Given the description of an element on the screen output the (x, y) to click on. 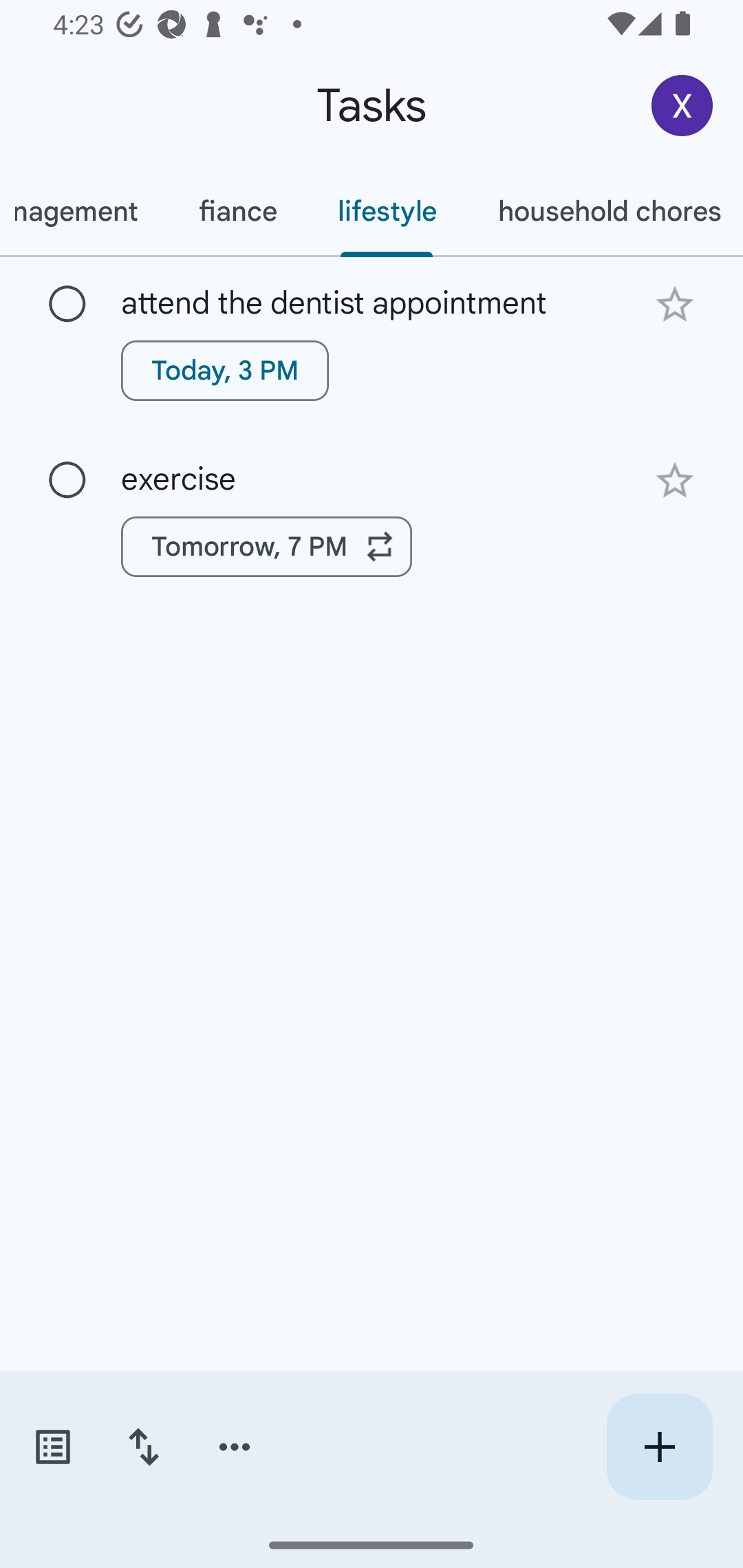
home management (83, 211)
fiance (236, 211)
household chores (605, 211)
Add star (674, 303)
Mark as complete (67, 304)
Today, 3 PM (225, 369)
Add star (674, 480)
Mark as complete (67, 480)
Tomorrow, 7 PM (266, 546)
Switch task lists (52, 1447)
Create new task (659, 1446)
Change sort order (143, 1446)
More options (234, 1446)
